Given the description of an element on the screen output the (x, y) to click on. 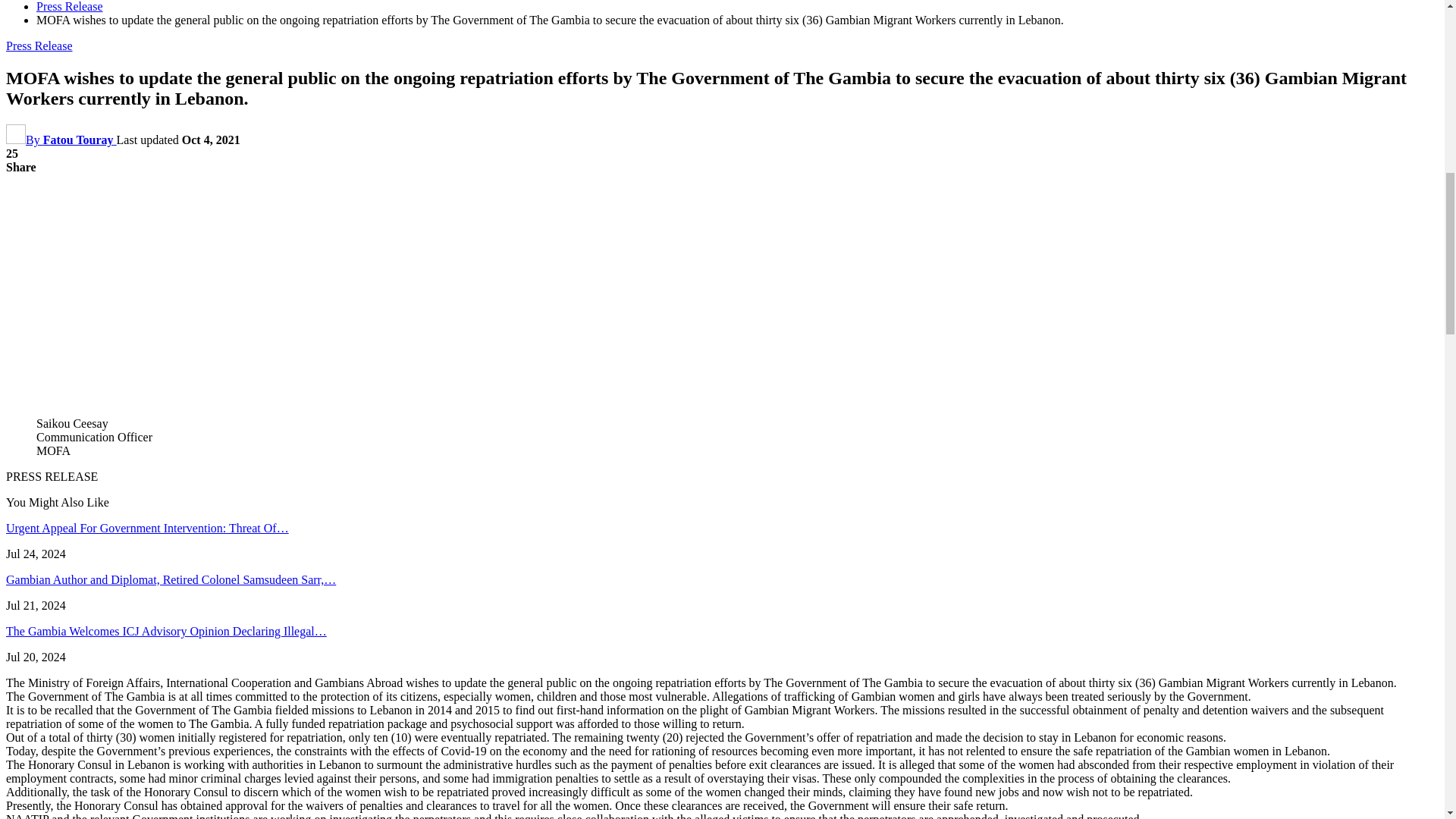
Press Release (69, 6)
Browse Author Articles (60, 139)
Press Release (38, 45)
By Fatou Touray (60, 139)
